Given the description of an element on the screen output the (x, y) to click on. 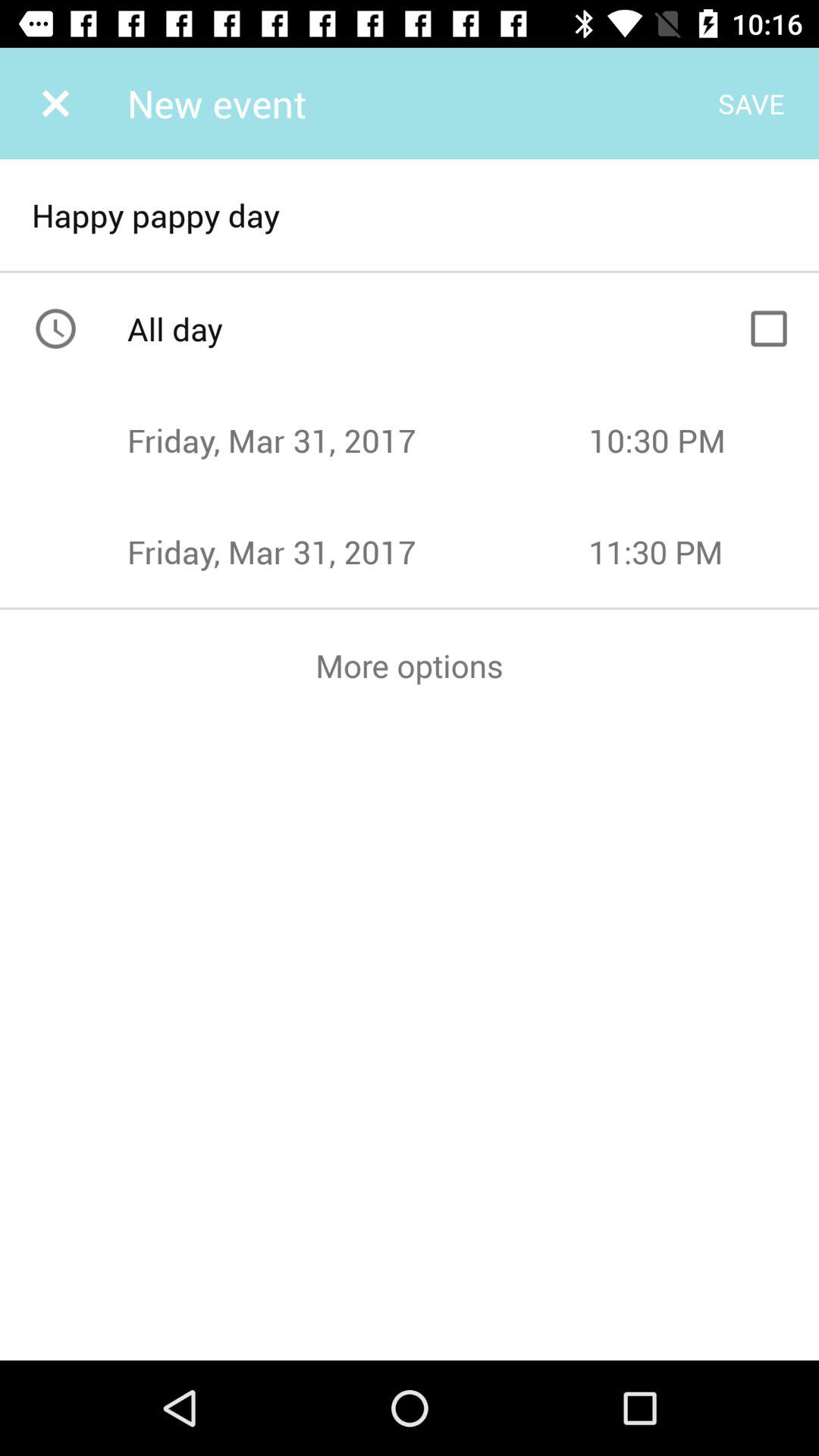
toggle all day (768, 328)
